Given the description of an element on the screen output the (x, y) to click on. 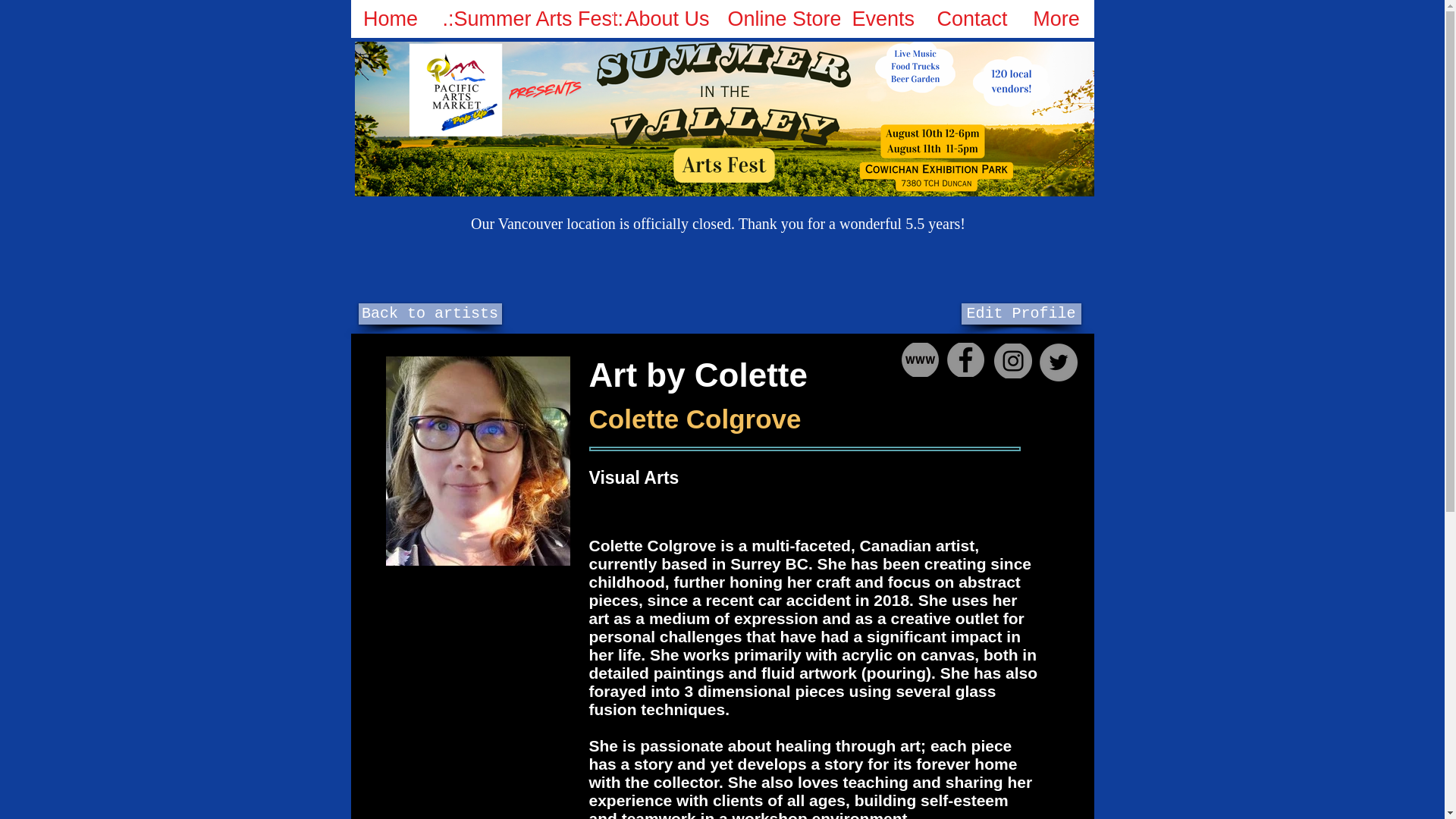
.:Summer Arts Fest:. (521, 18)
Edit Profile (1020, 313)
Online Store (778, 18)
About Us (663, 18)
Events (882, 18)
Back to artists (429, 313)
Home (389, 18)
Contact (970, 18)
